Given the description of an element on the screen output the (x, y) to click on. 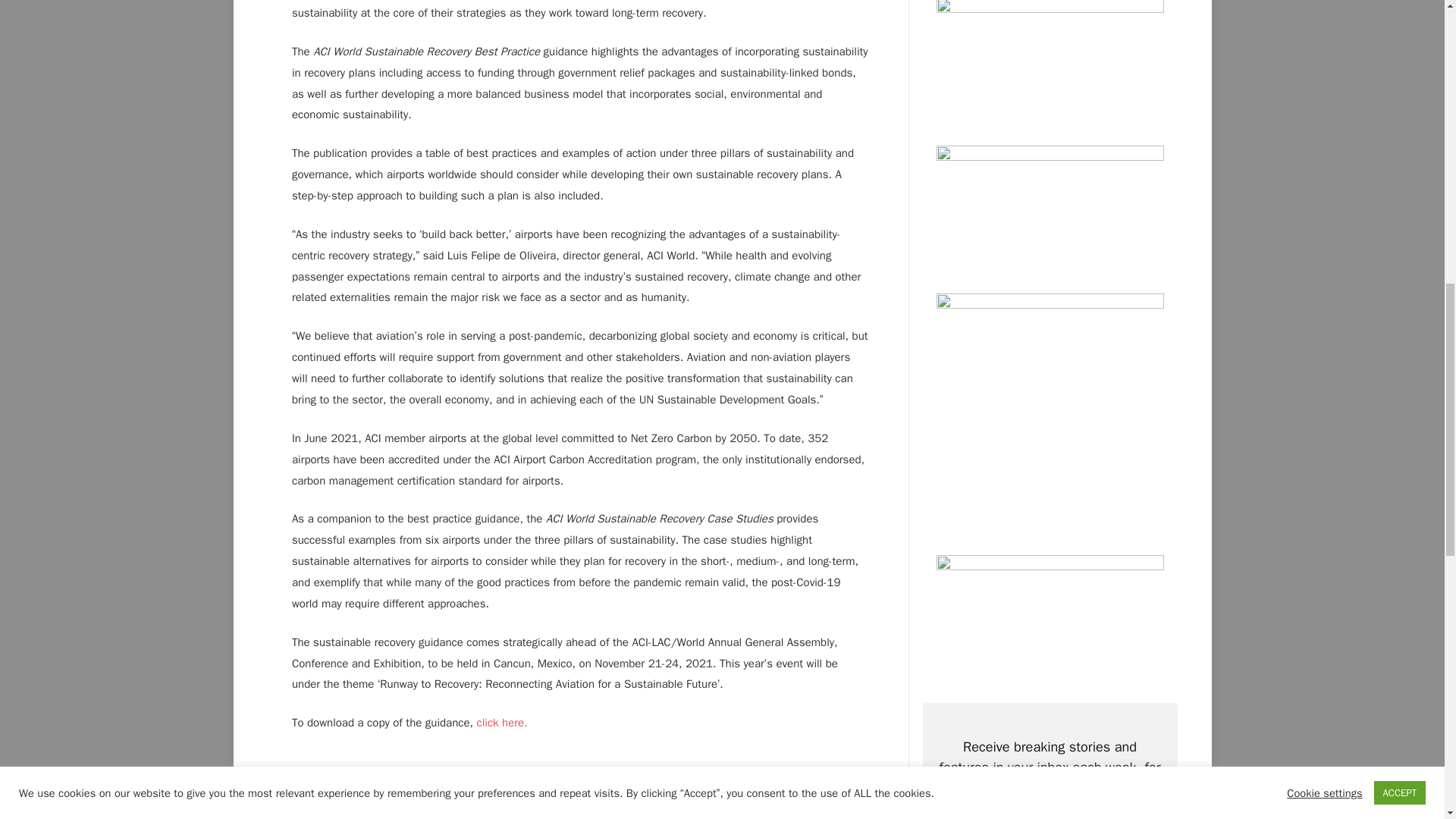
Share via Email (866, 787)
Share on LinkedIn (754, 787)
Share on Facebook (810, 787)
